Given the description of an element on the screen output the (x, y) to click on. 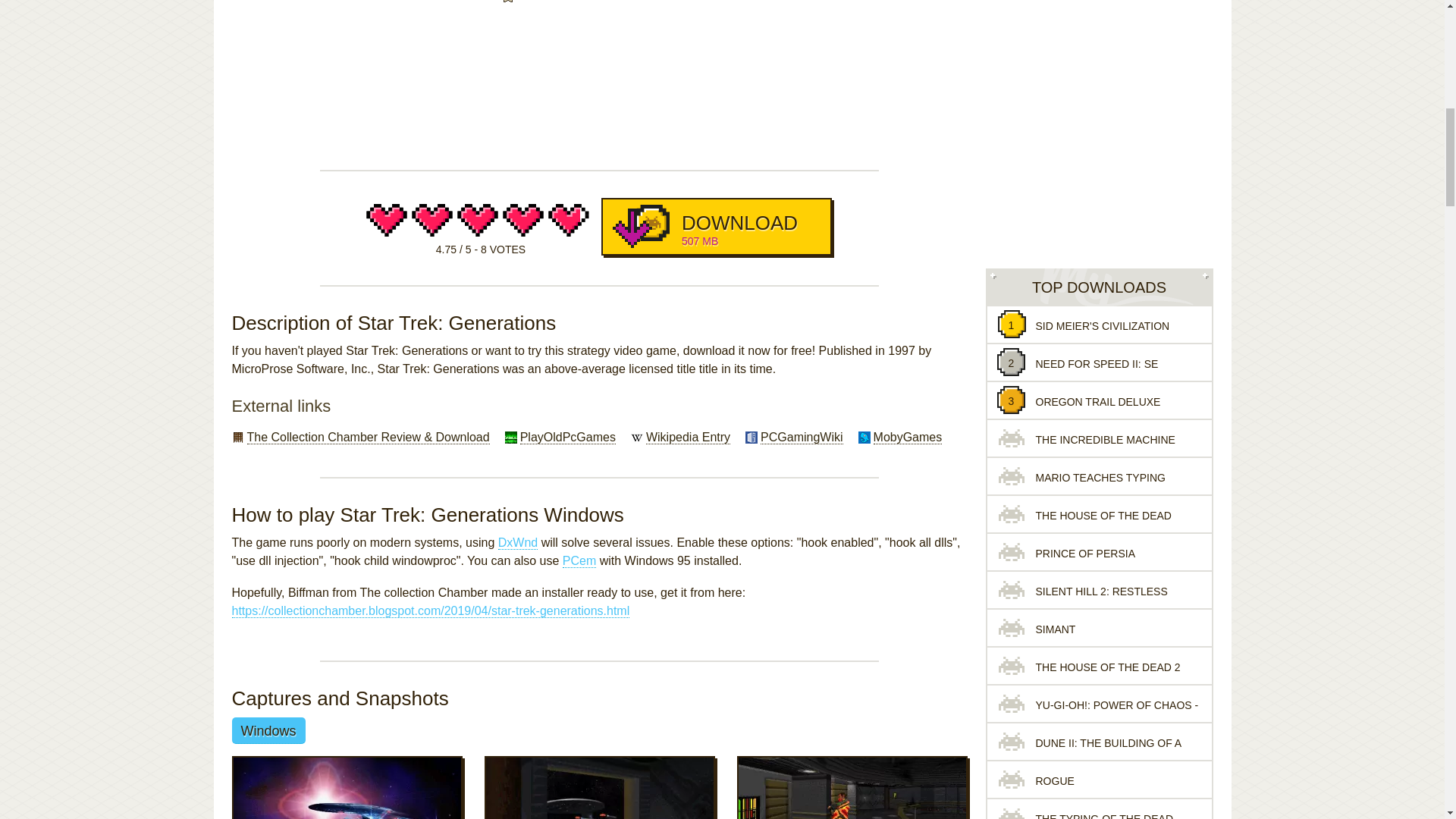
Wikipedia Entry (688, 437)
PlayOldPcGames (567, 437)
ADD TO FAVORITES (716, 226)
Add to favorites (561, 2)
